Given the description of an element on the screen output the (x, y) to click on. 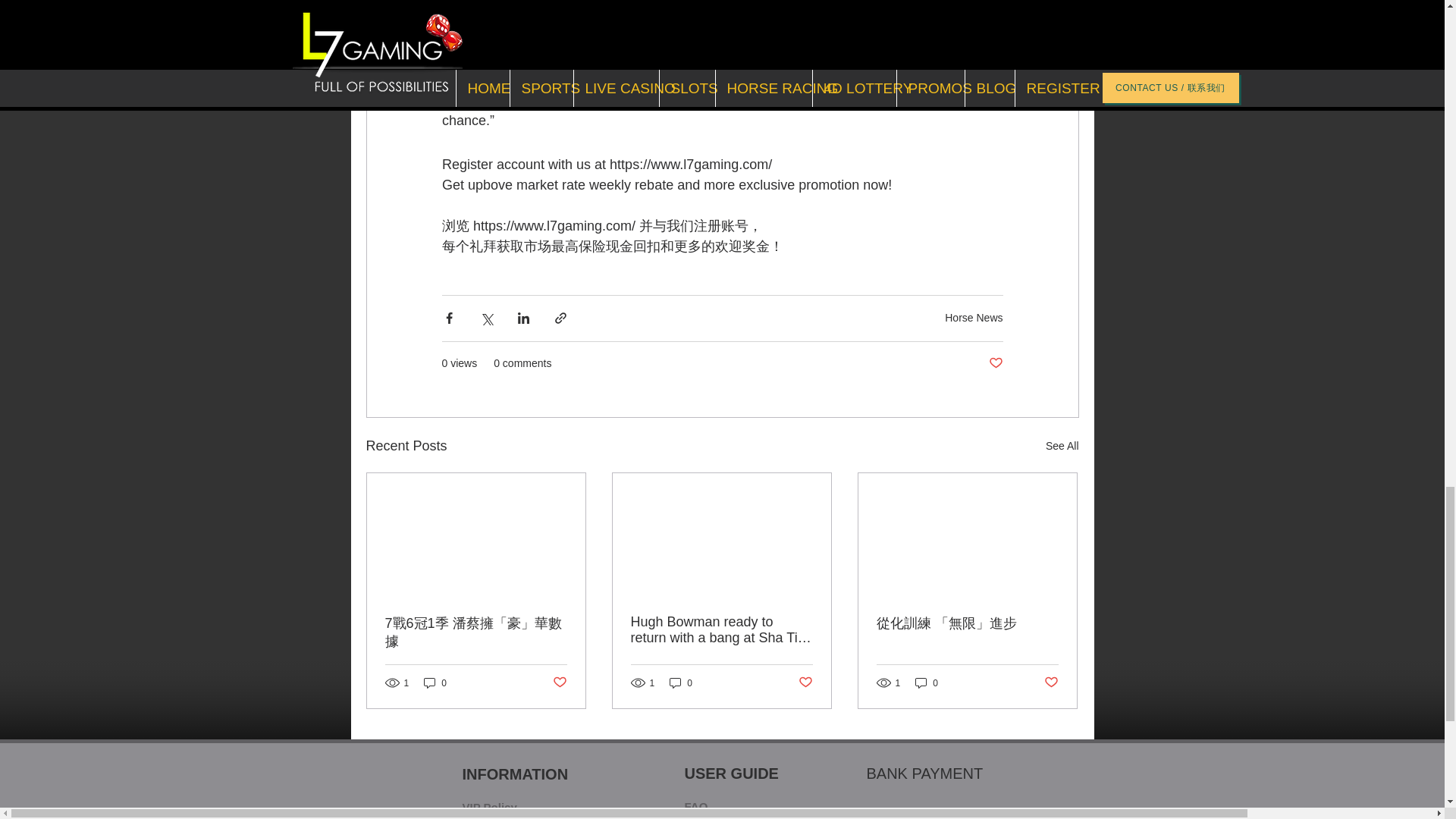
bank-maybank.jpg (893, 814)
Post not marked as liked (995, 363)
Horse News (973, 317)
0 (681, 682)
0 (926, 682)
bank-cimb-1.jpg (955, 814)
Post not marked as liked (558, 682)
Post not marked as liked (1050, 682)
bank-hongleong.jpg (1016, 814)
0 (435, 682)
